Given the description of an element on the screen output the (x, y) to click on. 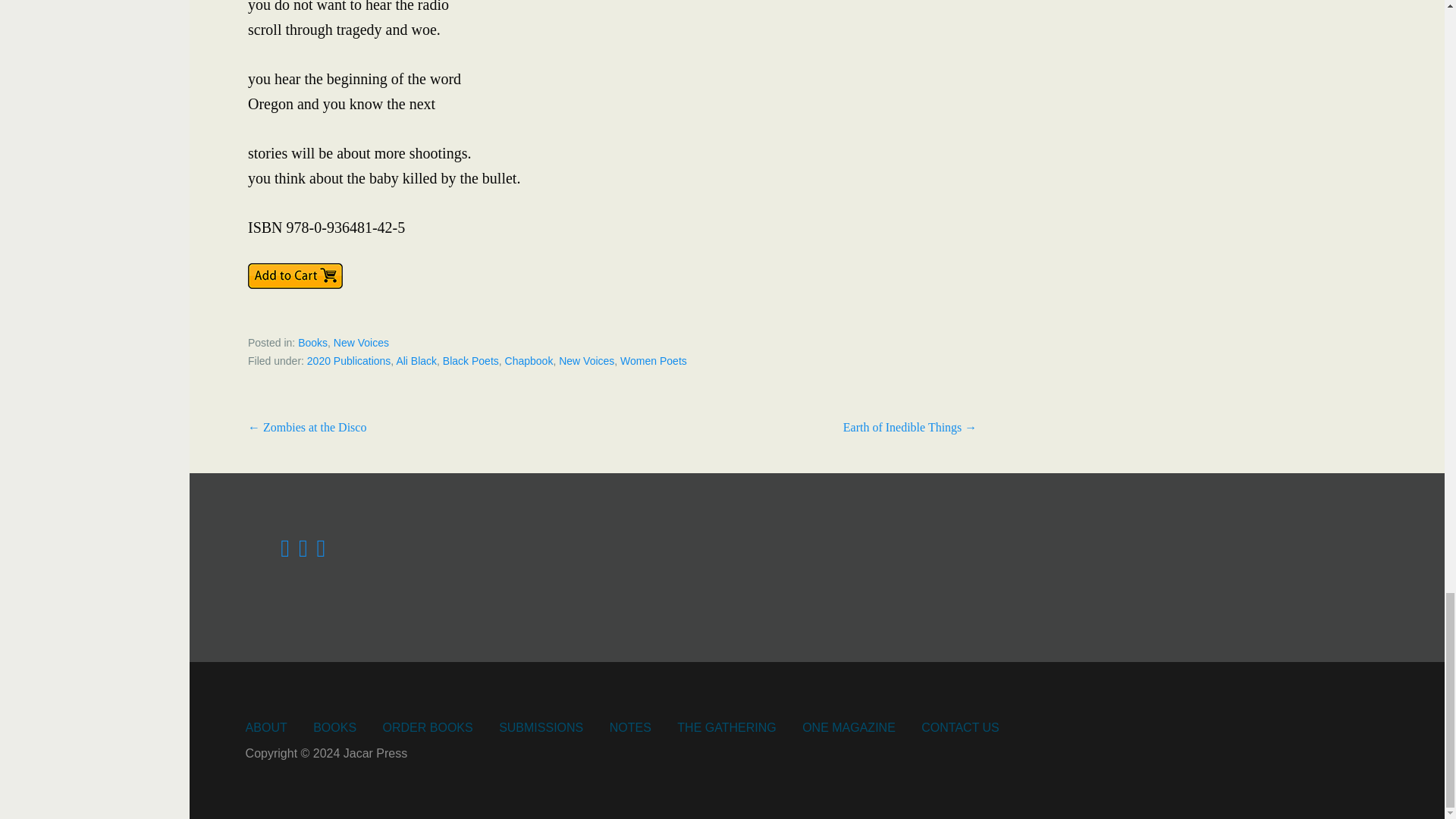
Books (312, 342)
NOTES (630, 727)
ABOUT (266, 727)
ONE MAGAZINE (848, 727)
2020 Publications (349, 360)
BOOKS (334, 727)
Black Poets (470, 360)
New Voices (586, 360)
ORDER BOOKS (427, 727)
Women Poets (653, 360)
